Given the description of an element on the screen output the (x, y) to click on. 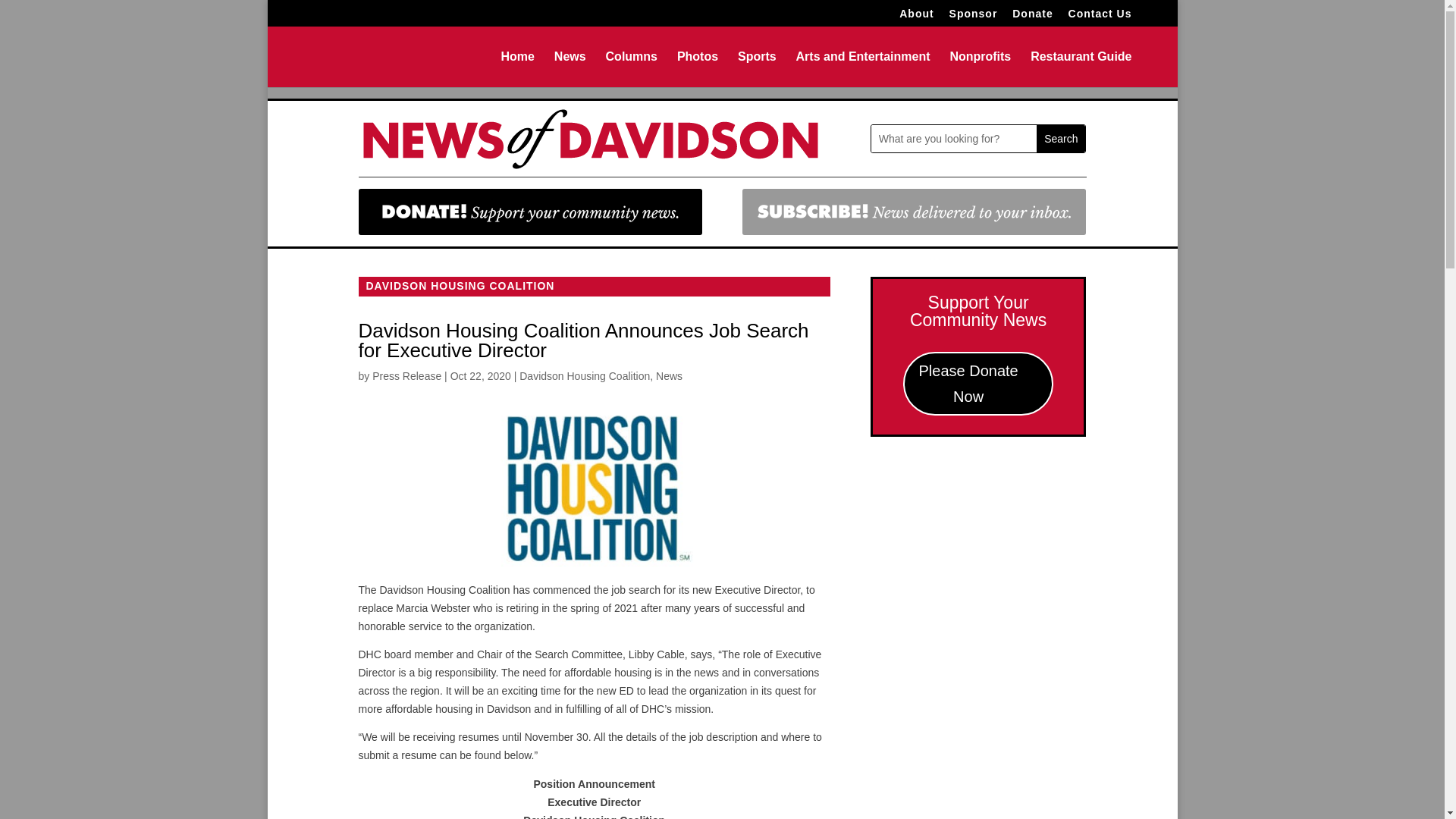
Sports (757, 68)
Sponsor (973, 16)
Contact Us (1100, 16)
Restaurant Guide (1080, 68)
Columns (631, 68)
News (669, 376)
Home (517, 68)
DonateButton-01 (529, 212)
Donate (1031, 16)
Please Donate Now (978, 383)
SubscribeButton-02 (914, 212)
Search (1060, 138)
Nonprofits (979, 68)
About (916, 16)
Arts and Entertainment (863, 68)
